Given the description of an element on the screen output the (x, y) to click on. 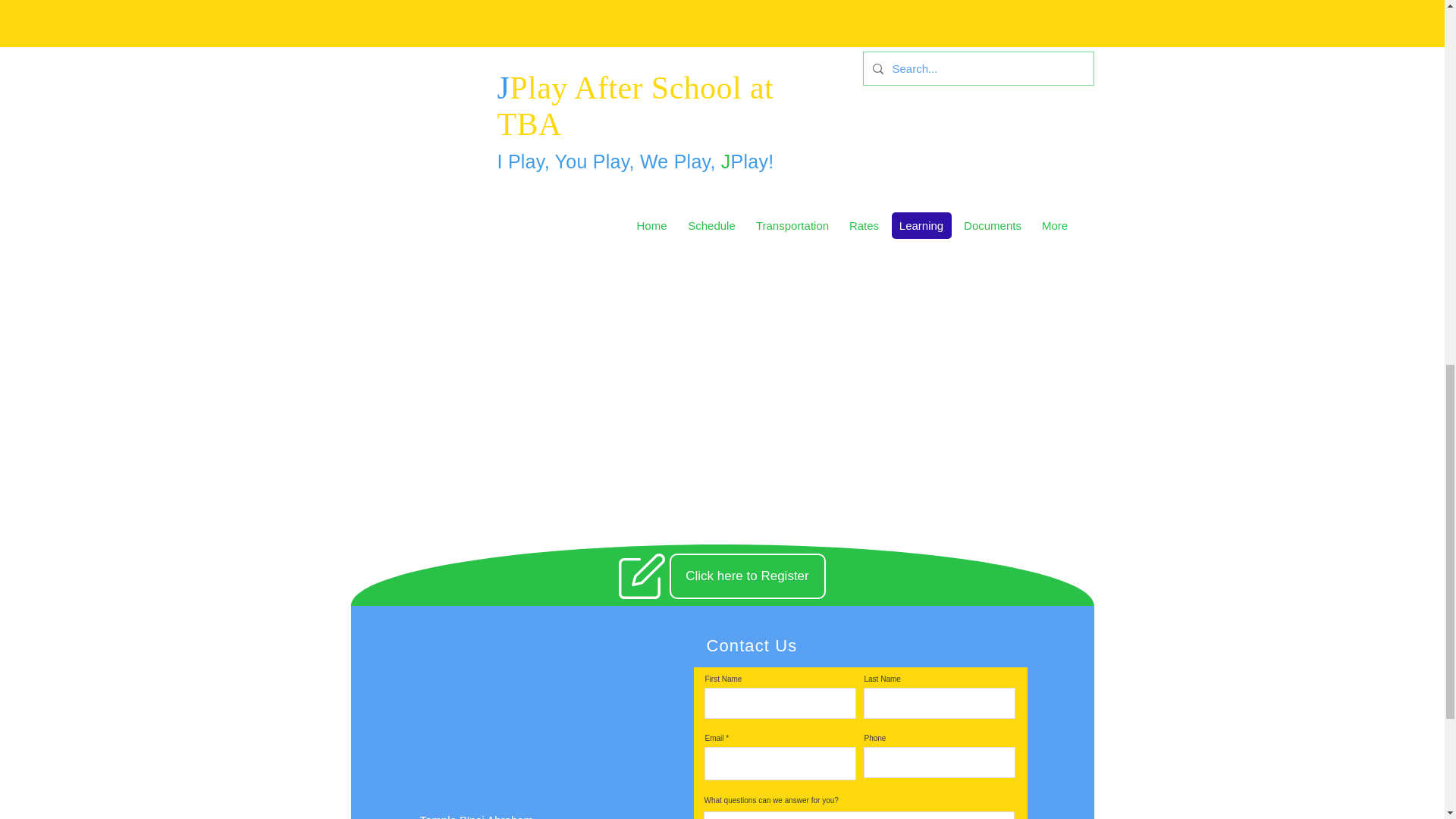
Temple B'nai Abraham (477, 816)
Click here to Register (746, 575)
Contact Us (751, 645)
